Given the description of an element on the screen output the (x, y) to click on. 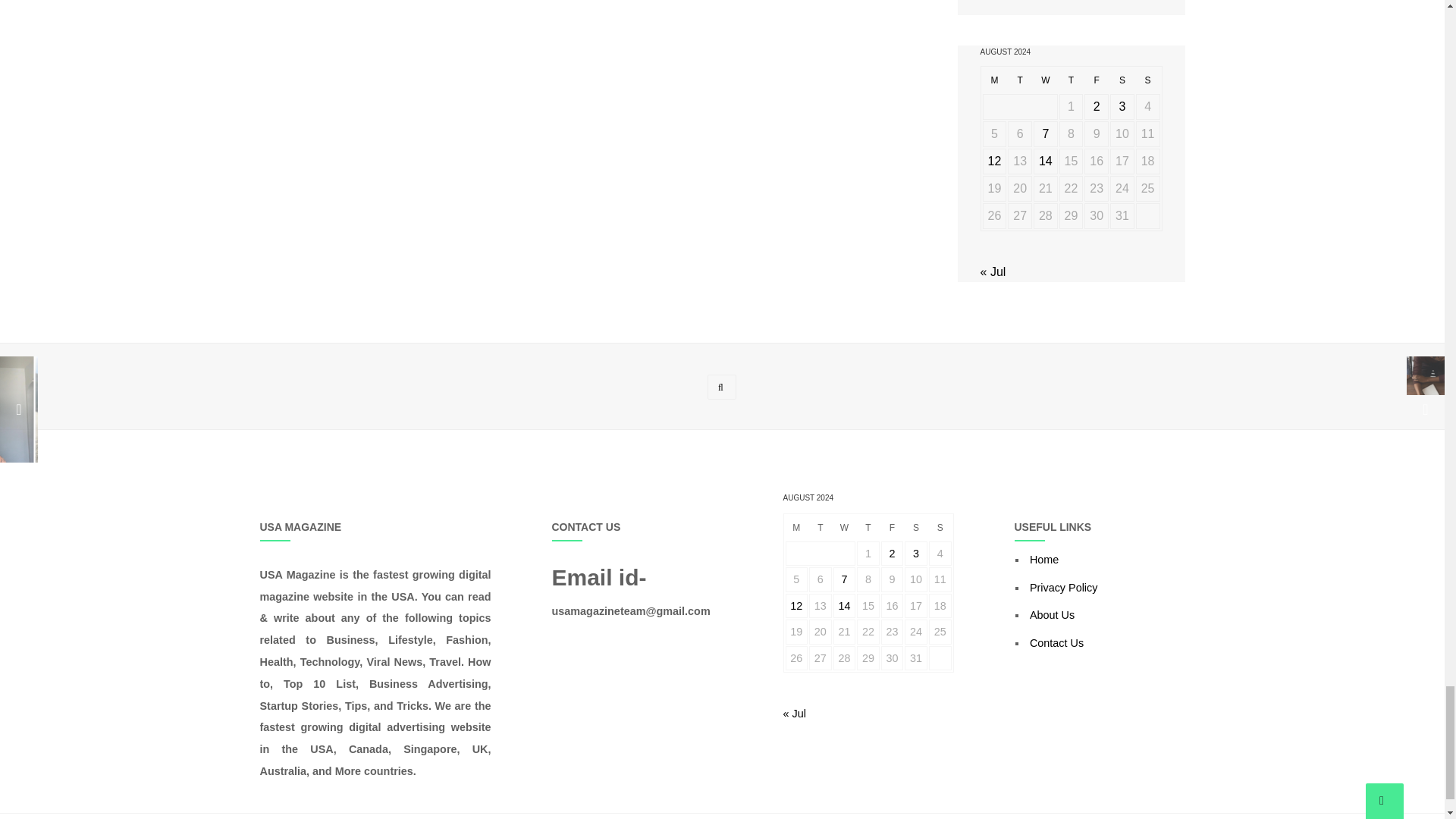
Friday (1096, 79)
Tuesday (1019, 79)
Wednesday (1045, 79)
Monday (994, 79)
Thursday (1071, 79)
Saturday (1121, 79)
